Given the description of an element on the screen output the (x, y) to click on. 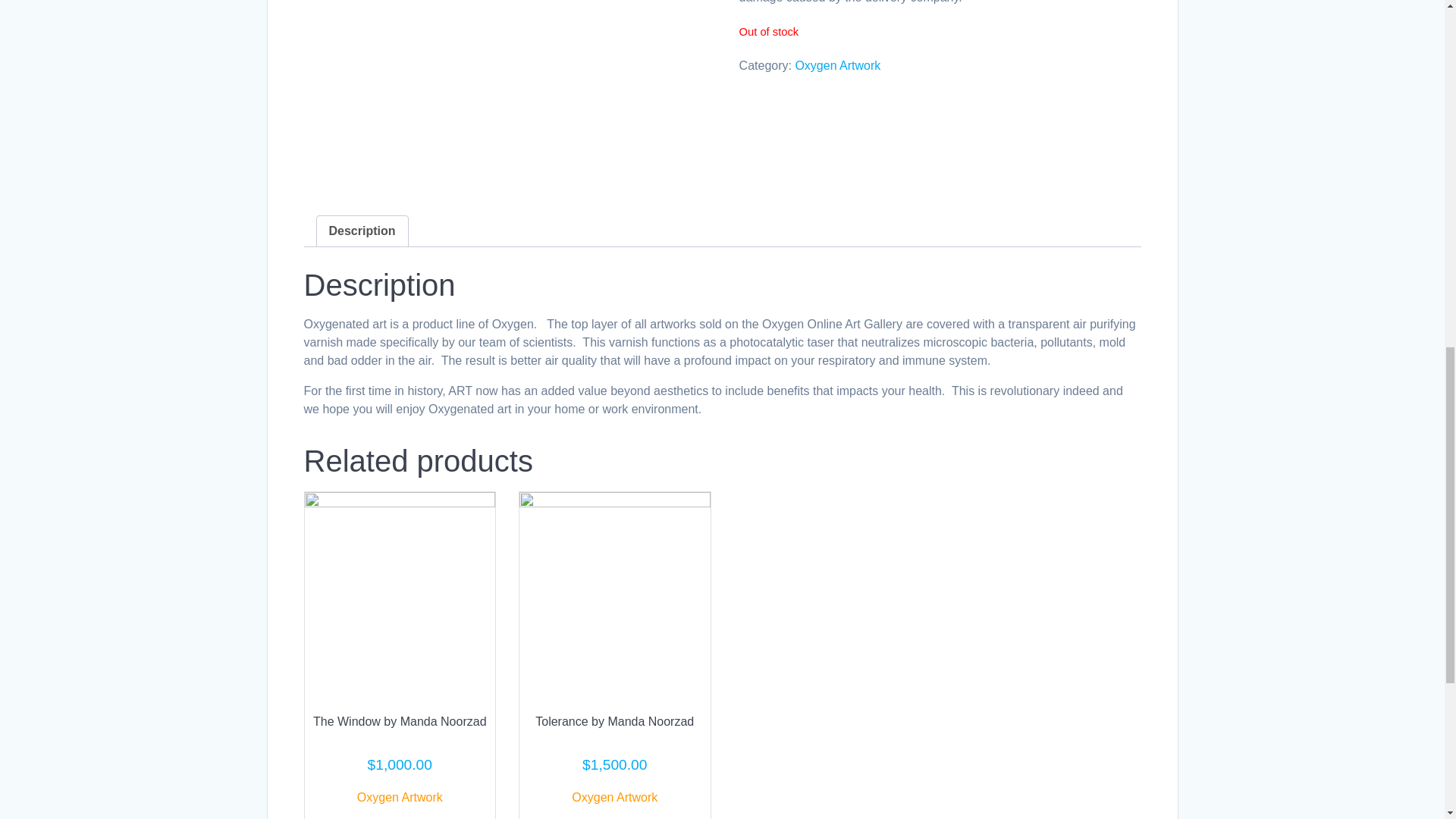
Description (362, 231)
Oxygen Artwork (837, 65)
Oxygen Artwork (399, 797)
Oxygen Artwork (615, 797)
